Given the description of an element on the screen output the (x, y) to click on. 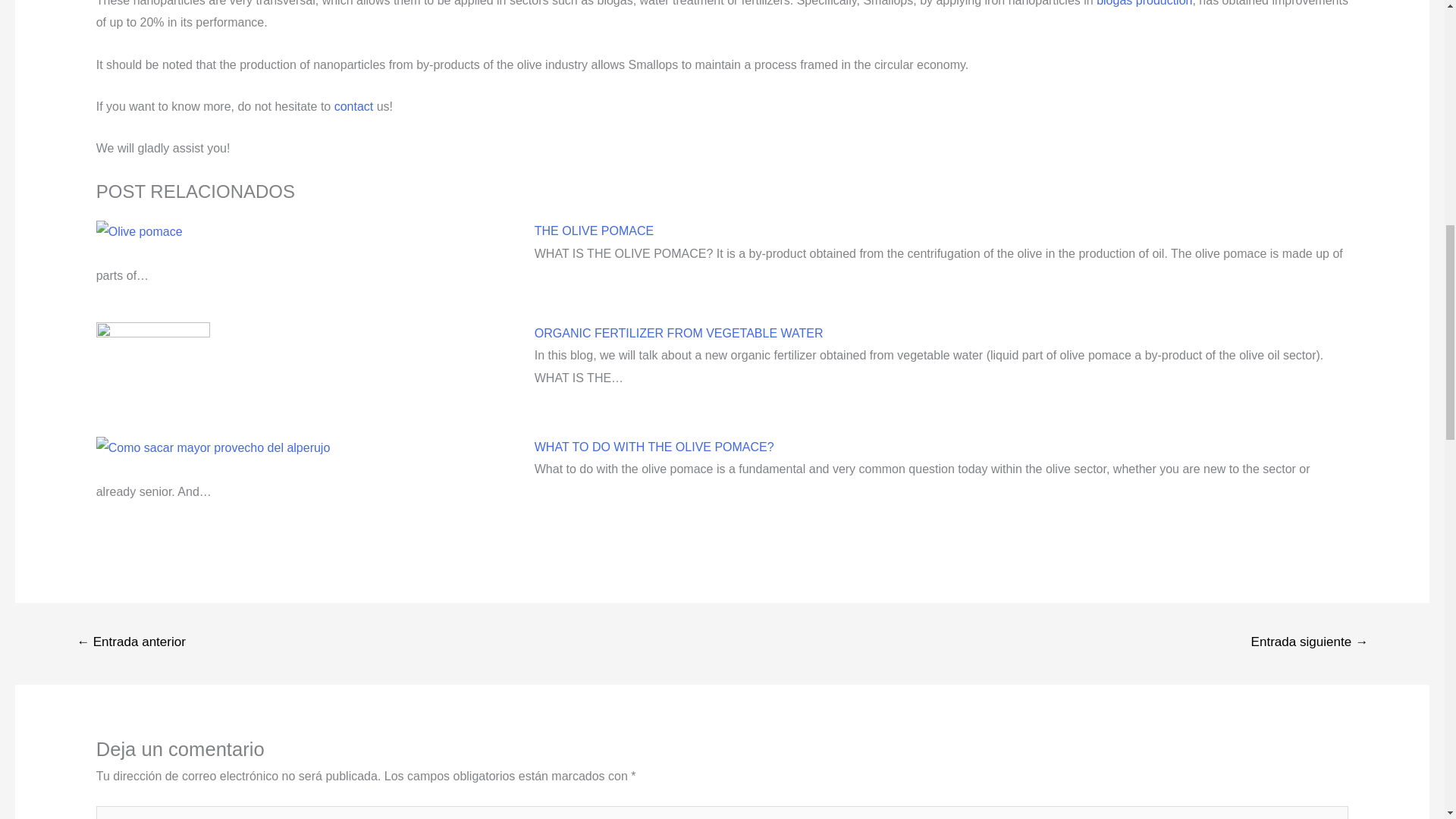
contact (354, 106)
ORGANIC FERTILIZER FROM VEGETABLE WATER (679, 332)
WHAT TO DO WITH THE OLIVE POMACE? (654, 446)
THE OLIVE POMACE (593, 230)
biogas production (1144, 3)
